Given the description of an element on the screen output the (x, y) to click on. 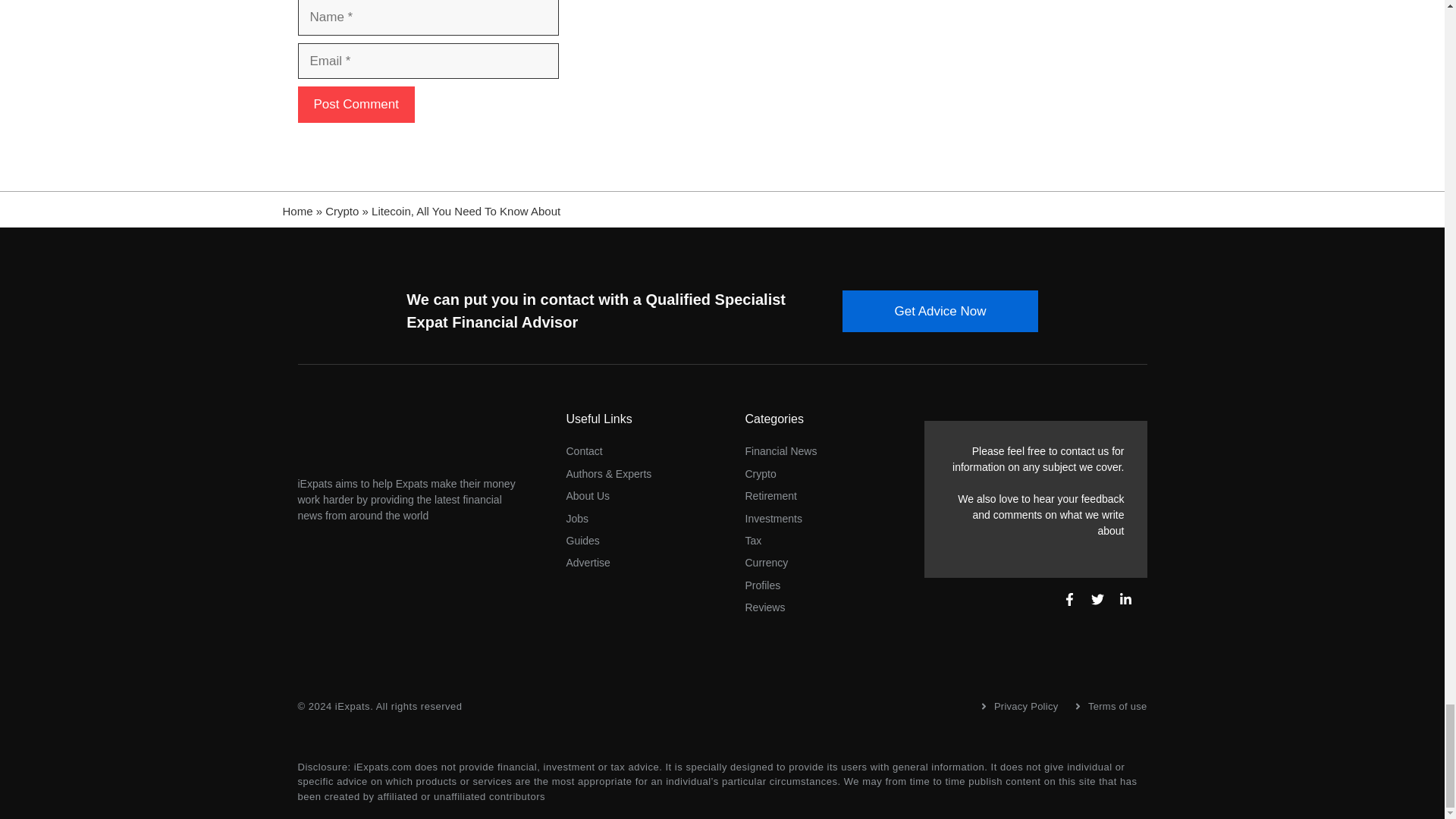
Post Comment (355, 104)
